Given the description of an element on the screen output the (x, y) to click on. 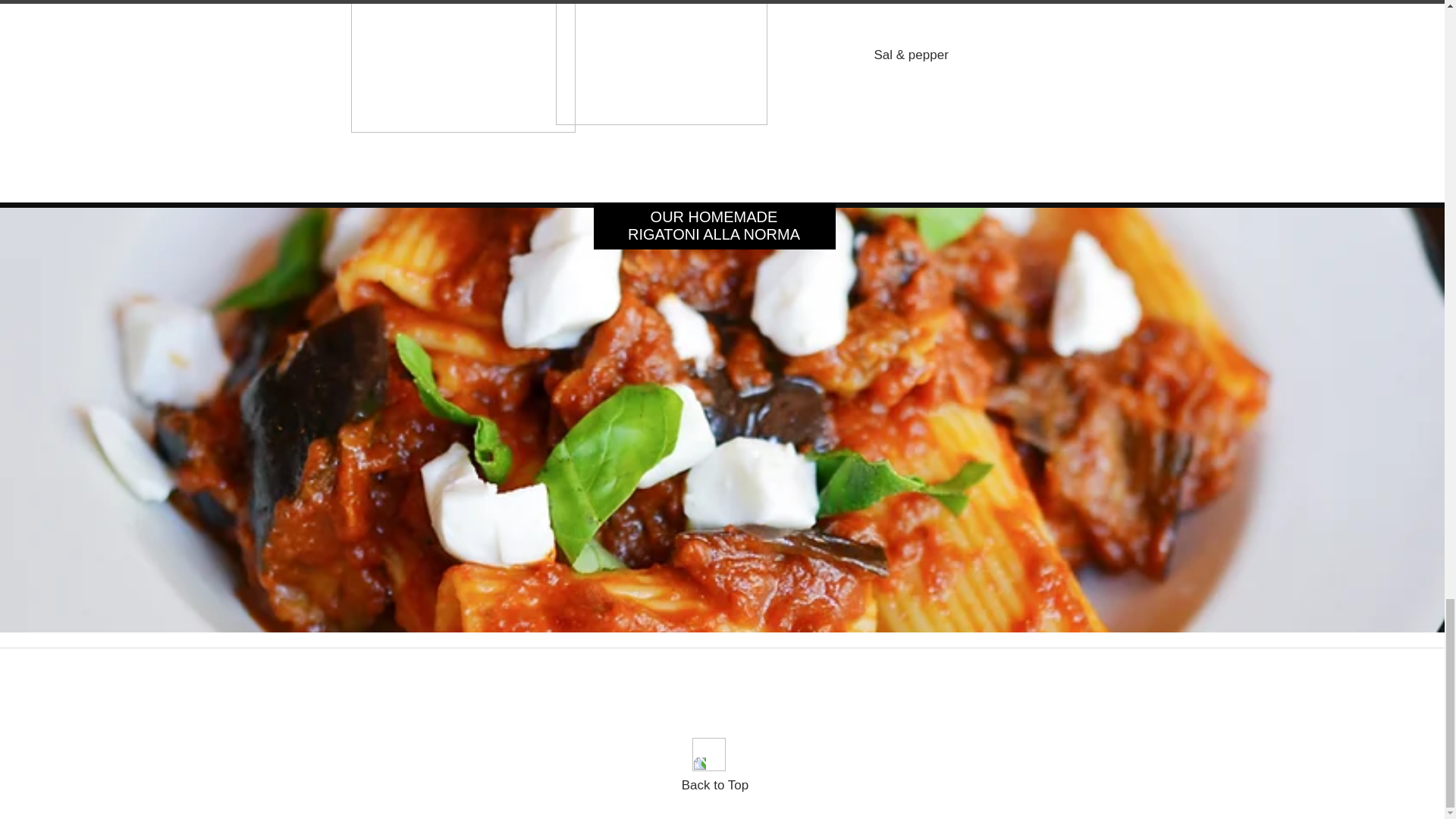
Back to Top (715, 785)
